Given the description of an element on the screen output the (x, y) to click on. 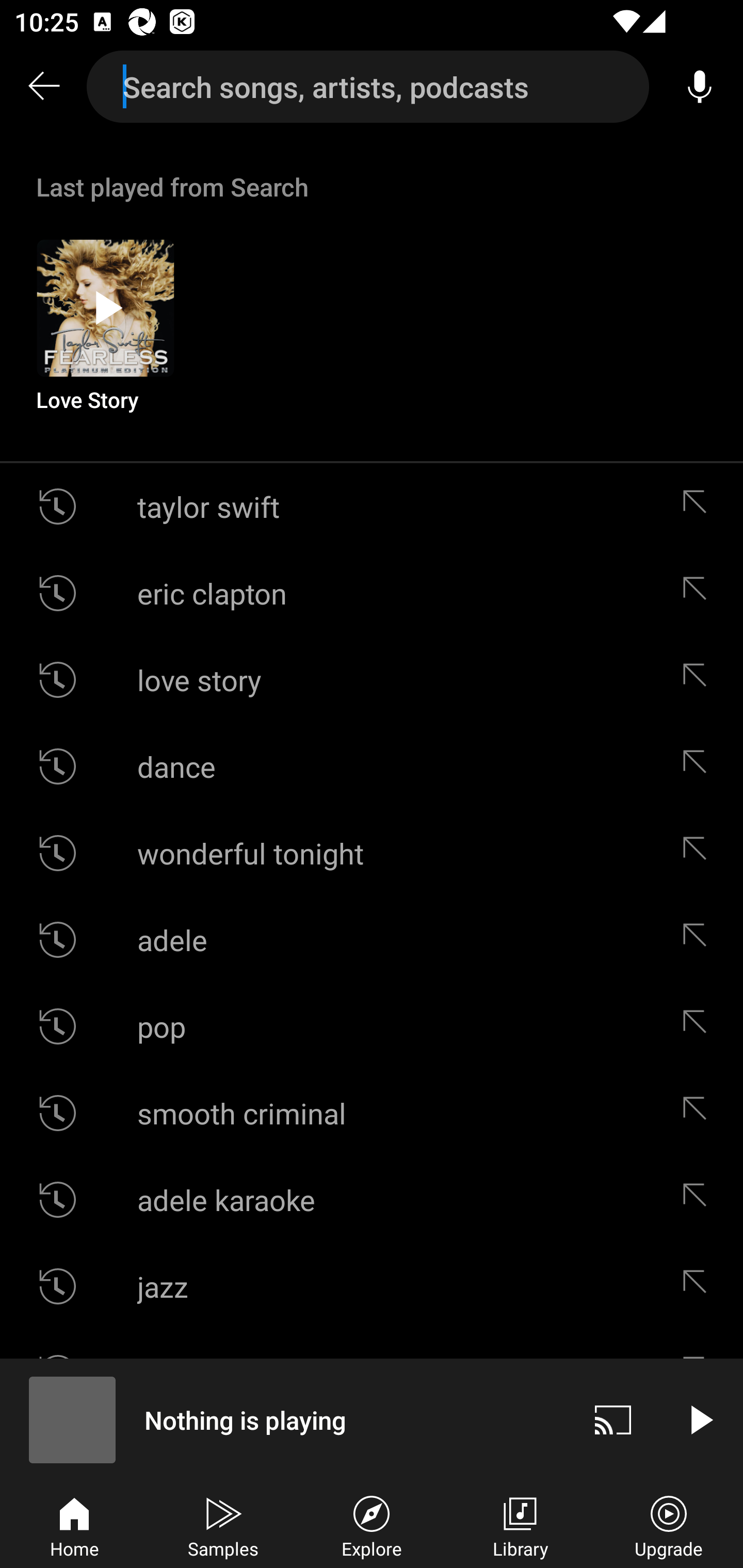
Search back (43, 86)
Search songs, artists, podcasts (367, 86)
Voice search (699, 86)
taylor swift Edit suggestion taylor swift (371, 506)
Edit suggestion taylor swift (699, 506)
eric clapton Edit suggestion eric clapton (371, 593)
Edit suggestion eric clapton (699, 593)
love story Edit suggestion love story (371, 679)
Edit suggestion love story (699, 679)
dance Edit suggestion dance (371, 765)
Edit suggestion dance (699, 765)
Edit suggestion wonderful tonight (699, 852)
adele Edit suggestion adele (371, 939)
Edit suggestion adele (699, 939)
pop Edit suggestion pop (371, 1026)
Edit suggestion pop (699, 1026)
smooth criminal Edit suggestion smooth criminal (371, 1113)
Edit suggestion smooth criminal (699, 1113)
adele karaoke Edit suggestion adele karaoke (371, 1200)
Edit suggestion adele karaoke (699, 1200)
jazz Edit suggestion jazz (371, 1286)
Edit suggestion jazz (699, 1286)
Nothing is playing (284, 1419)
Cast. Disconnected (612, 1419)
Play video (699, 1419)
Home (74, 1524)
Samples (222, 1524)
Explore (371, 1524)
Library (519, 1524)
Upgrade (668, 1524)
